Given the description of an element on the screen output the (x, y) to click on. 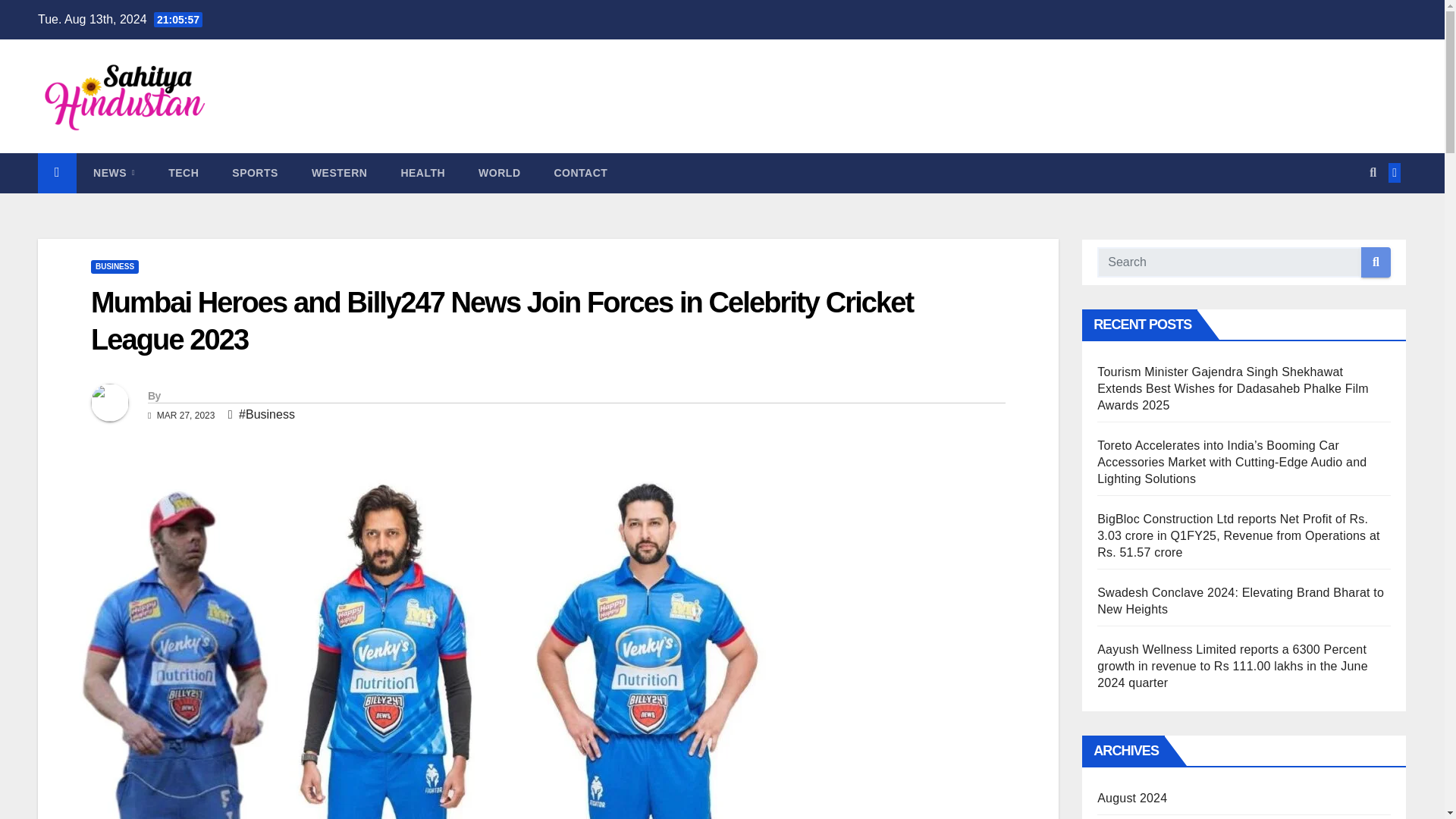
Contact (580, 172)
CONTACT (580, 172)
WESTERN (339, 172)
HEALTH (422, 172)
News (114, 172)
World (499, 172)
Western (339, 172)
NEWS (114, 172)
BUSINESS (114, 266)
